Given the description of an element on the screen output the (x, y) to click on. 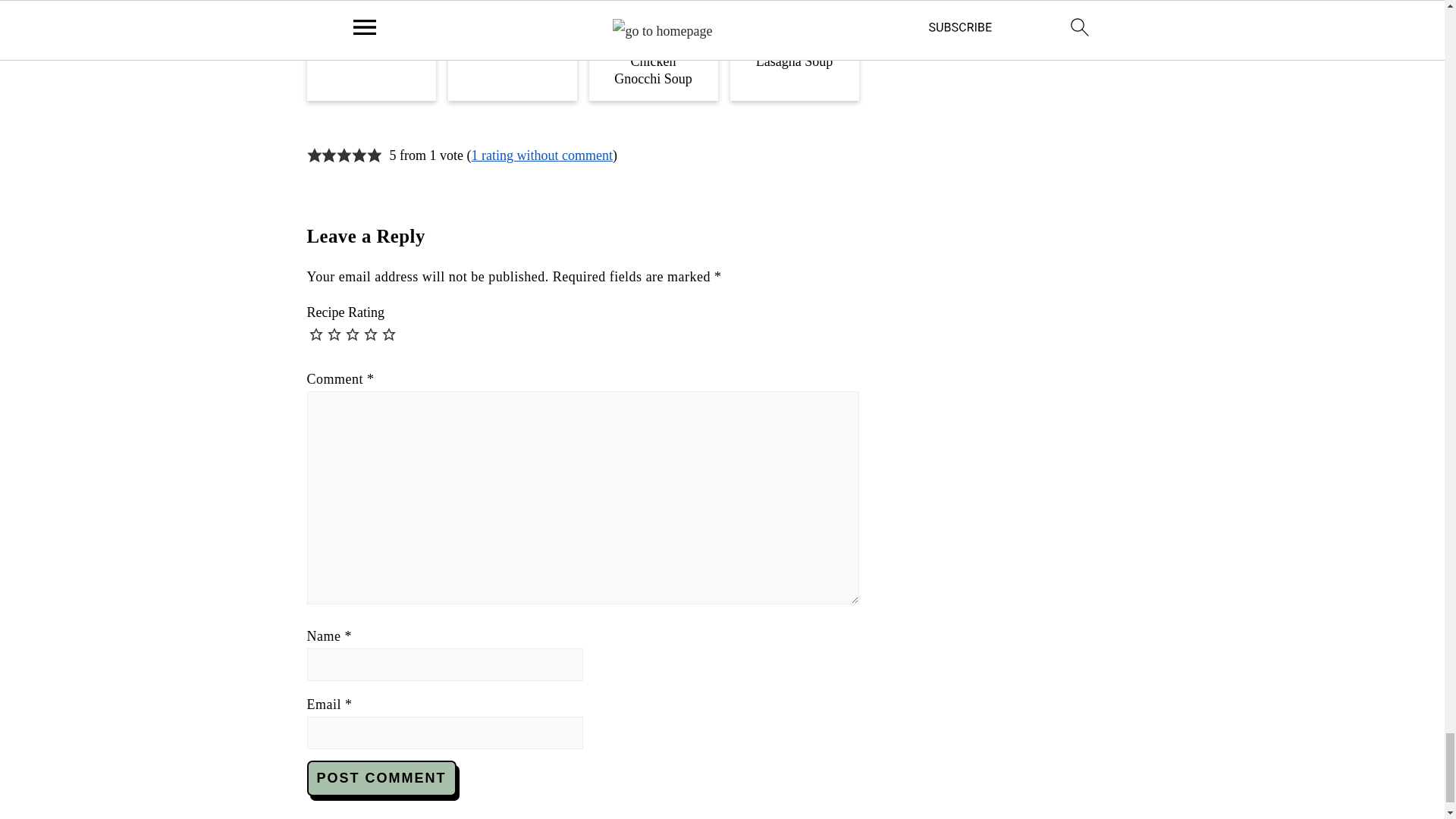
Post Comment (380, 778)
